Given the description of an element on the screen output the (x, y) to click on. 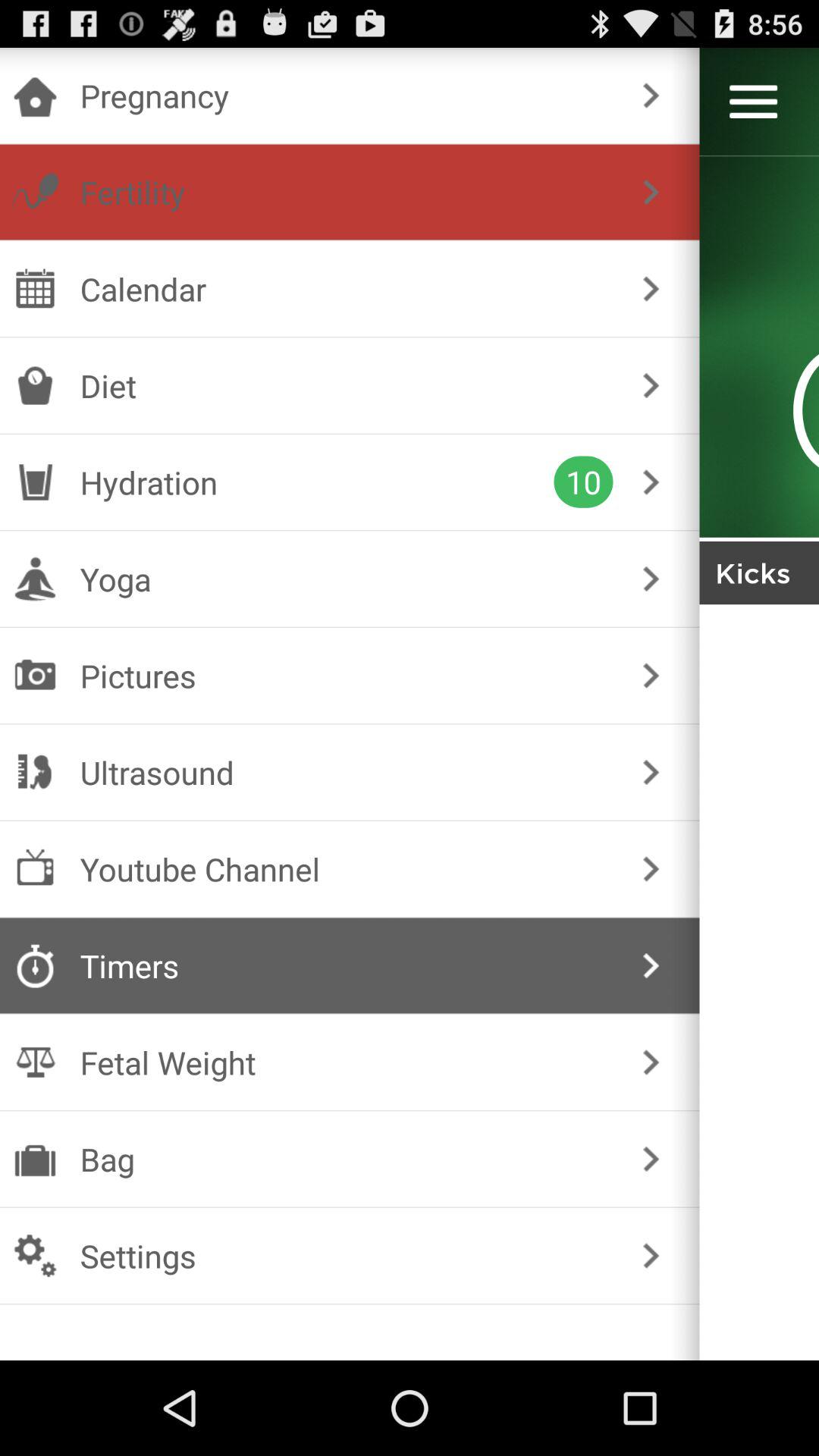
turn on the item below the yoga item (346, 675)
